Given the description of an element on the screen output the (x, y) to click on. 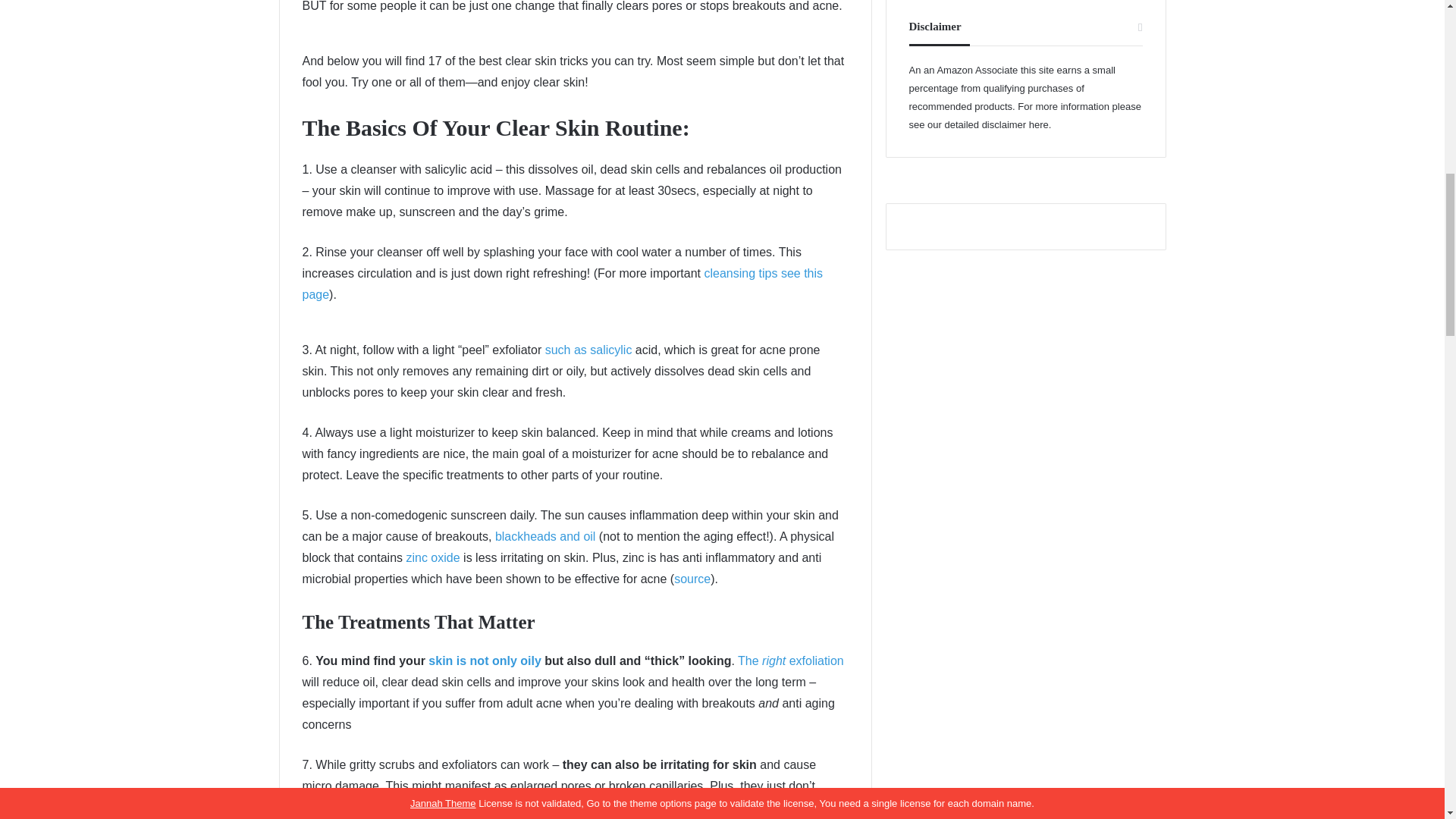
The right exfoliation (791, 660)
blackheads and oil (545, 535)
cleansing tips see this page (561, 283)
such as salicylic  (589, 349)
source (692, 578)
zinc oxide (433, 557)
skin is not only oily (484, 660)
